Given the description of an element on the screen output the (x, y) to click on. 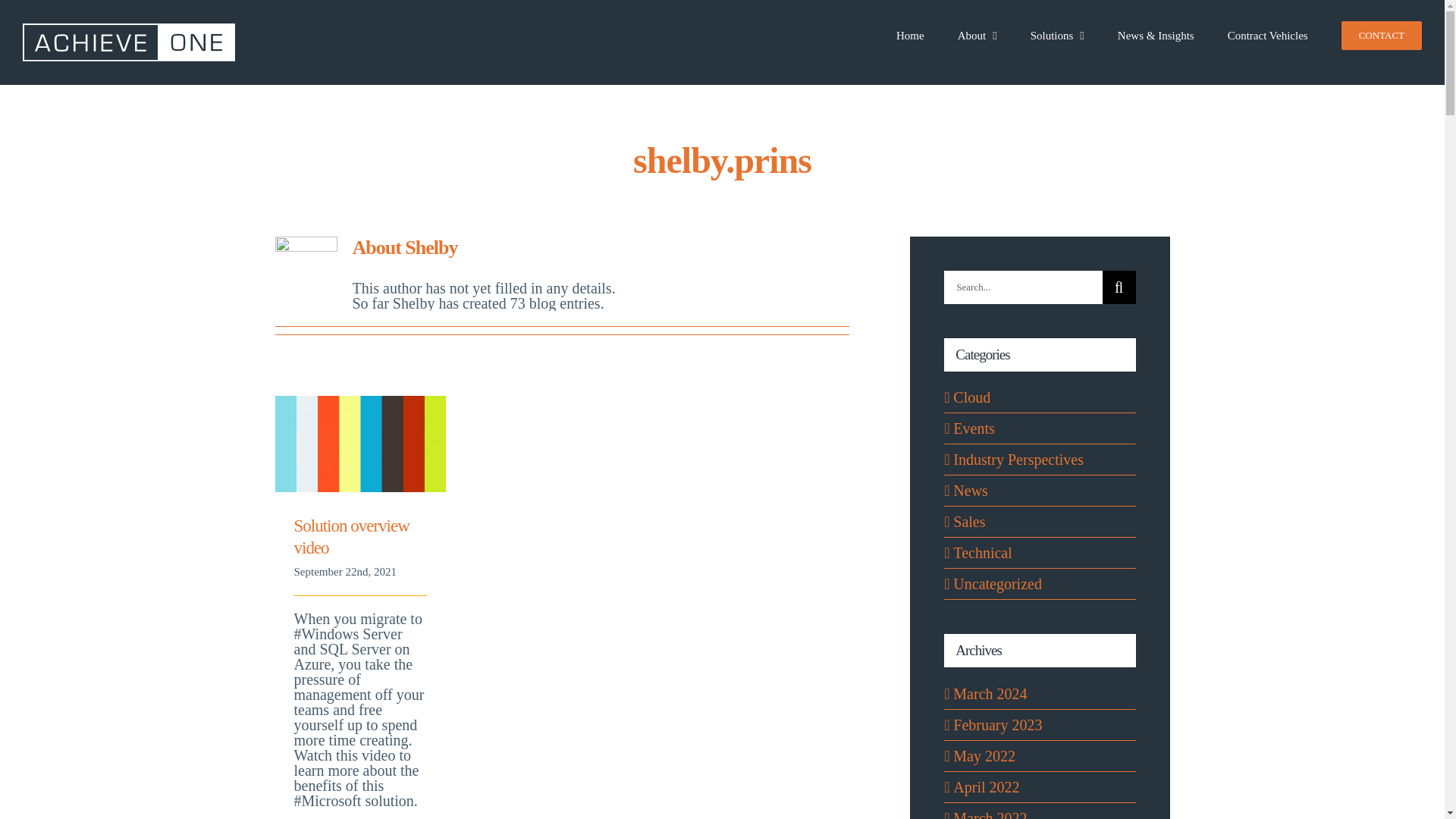
CONTACT (1381, 31)
Solution overview video (351, 536)
Contract Vehicles (1267, 31)
